Given the description of an element on the screen output the (x, y) to click on. 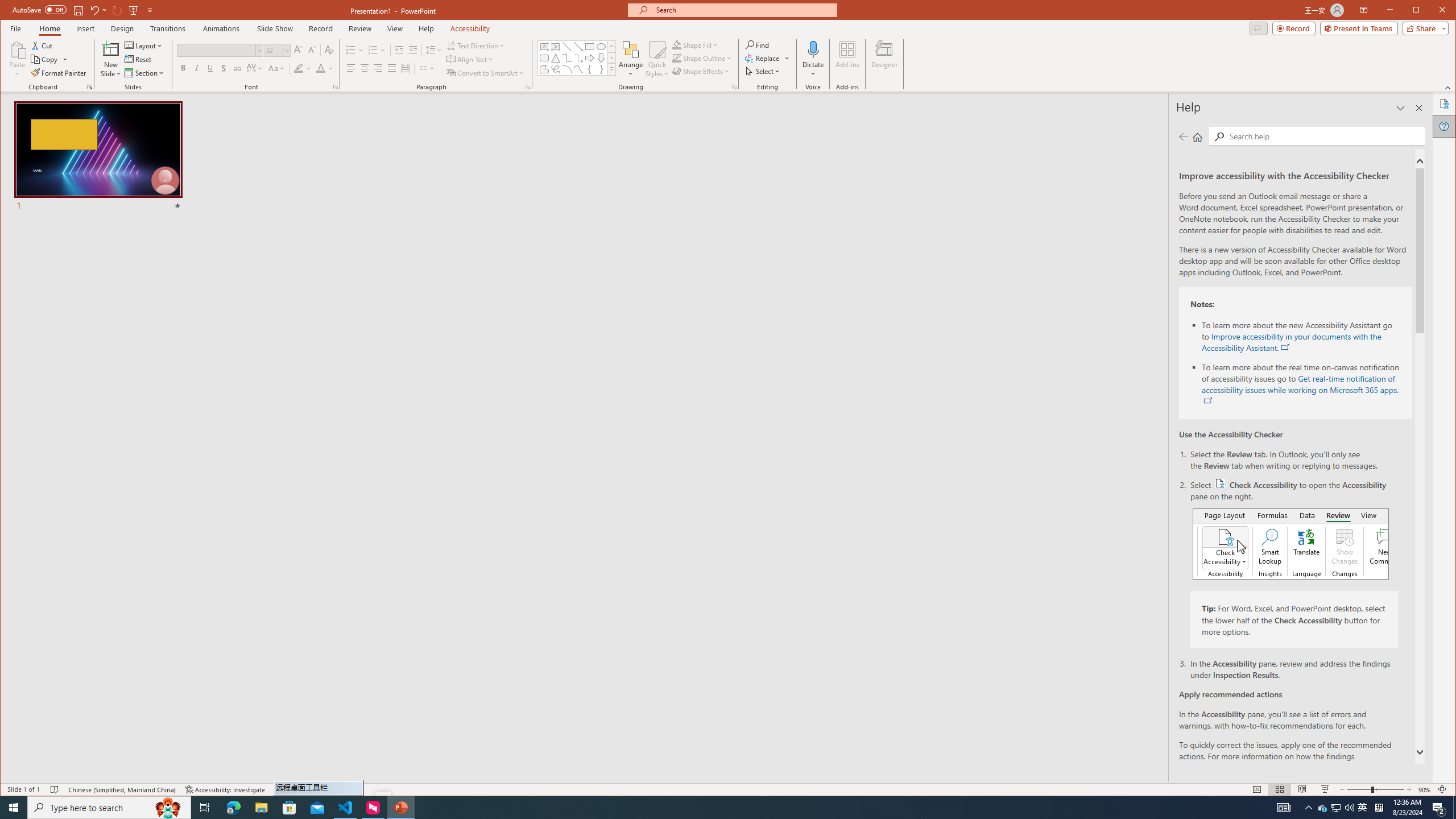
Accessibility checker button on ribbon (1290, 543)
Check accessibility button (1219, 483)
Open (285, 50)
Row up (611, 46)
Type here to search (108, 807)
Underline (209, 68)
Zoom 90% (1424, 789)
Right Brace (601, 69)
Connector: Elbow Arrow (577, 57)
Justify (391, 68)
Section (144, 72)
AutomationID: 4105 (1283, 807)
